Given the description of an element on the screen output the (x, y) to click on. 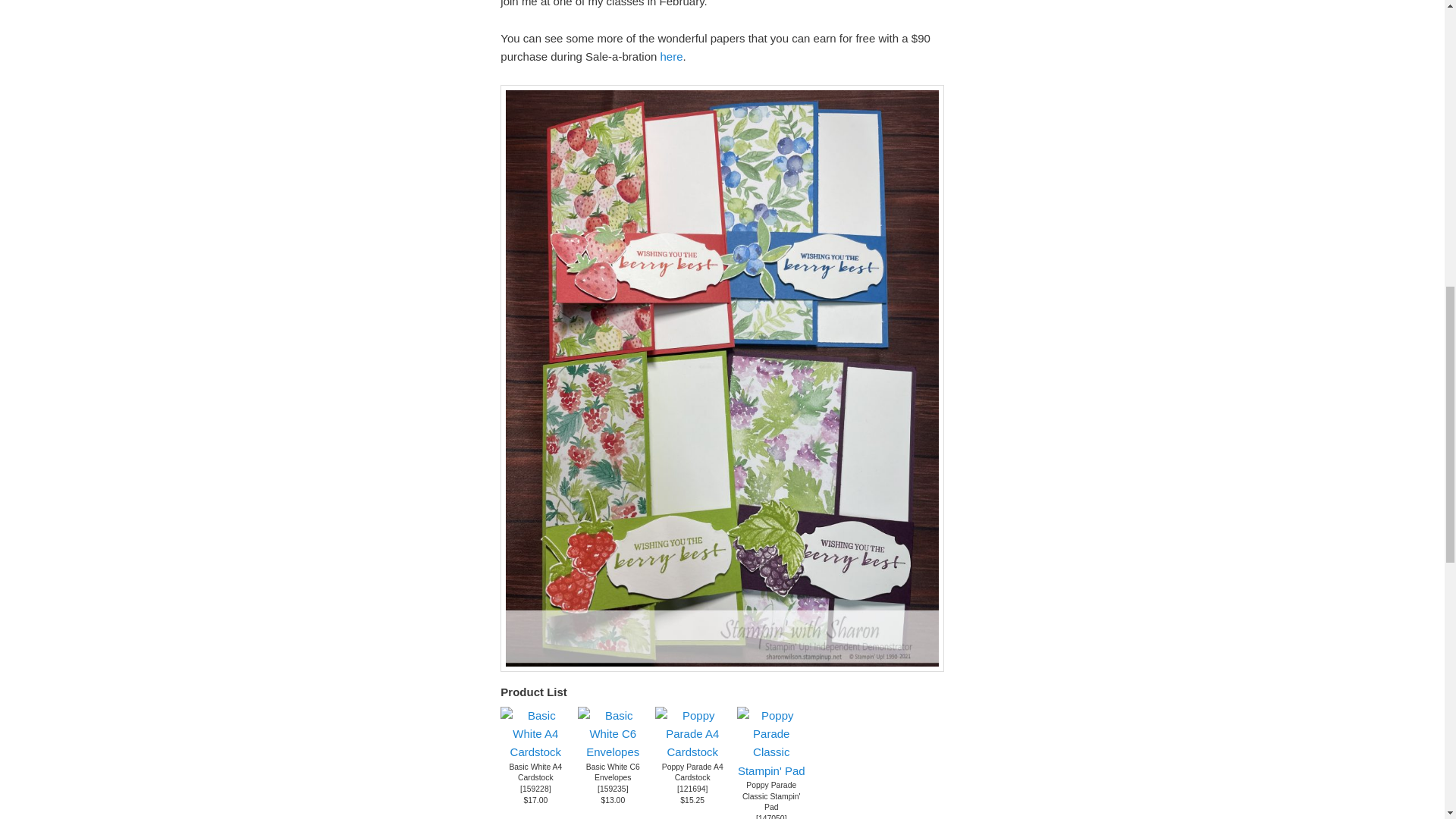
147050 (771, 816)
Basic White C6 Envelopes (612, 751)
Basic White A4 Cardstock (535, 734)
Basic White A4 Cardstock (535, 788)
Basic White A4 Cardstock (535, 772)
Poppy Parade Classic Stampin' Pad (770, 743)
Basic White C6 Envelopes (613, 772)
Poppy Parade Classic Stampin' Pad (770, 796)
Poppy Parade Classic Stampin' Pad (770, 796)
Poppy Parade A4 Cardstock (692, 751)
Basic White A4 Cardstock (535, 772)
121694 (692, 788)
Basic White C6 Envelopes (612, 788)
Poppy Parade A4 Cardstock (692, 772)
Poppy Parade A4 Cardstock (692, 734)
